Given the description of an element on the screen output the (x, y) to click on. 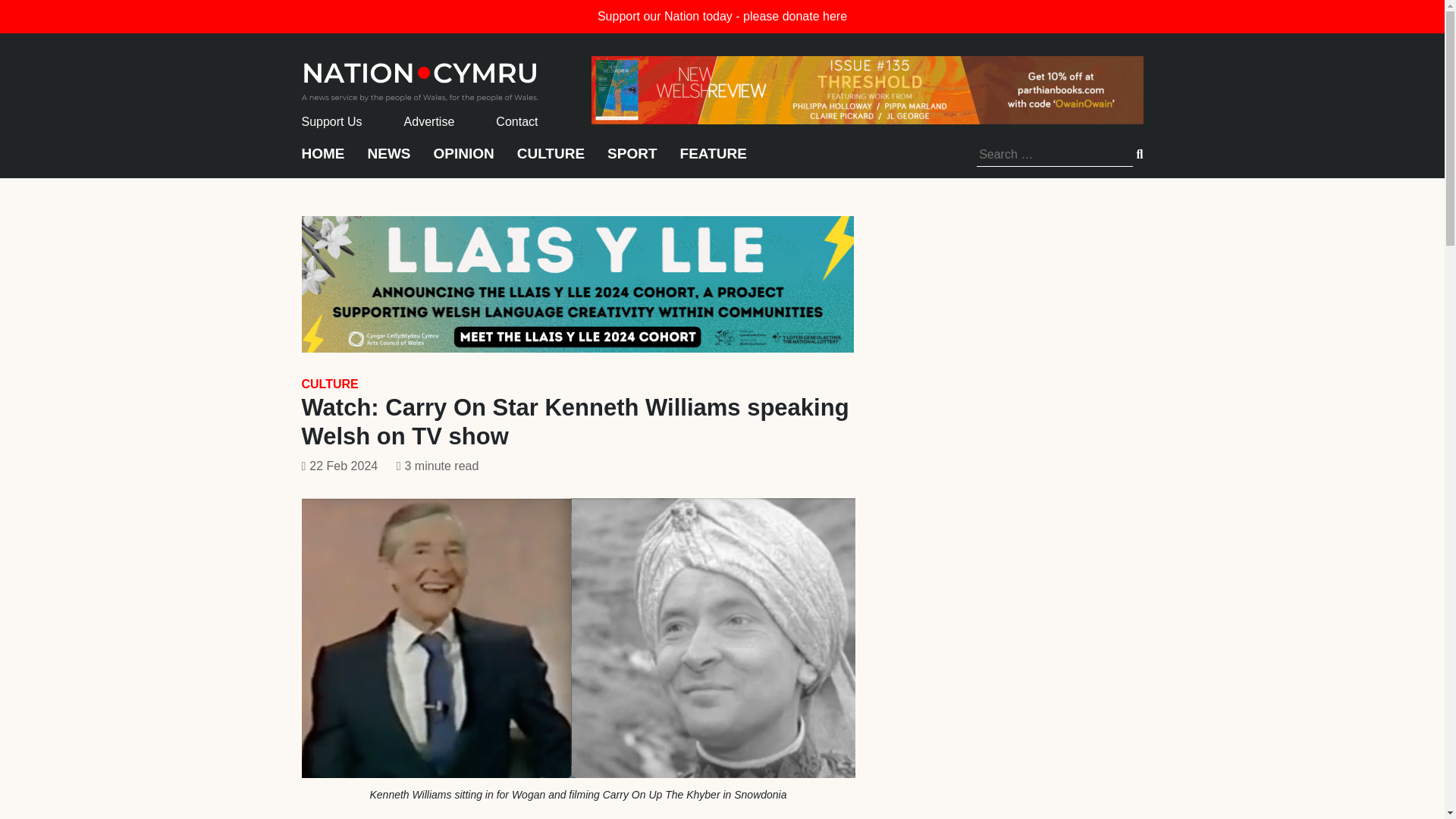
CULTURE (550, 160)
home (419, 77)
Contact (516, 121)
OPINION (464, 160)
CULTURE (329, 383)
Advertise (429, 121)
SPORT (631, 160)
HOME (323, 160)
NEWS (388, 160)
FEATURE (712, 160)
